Given the description of an element on the screen output the (x, y) to click on. 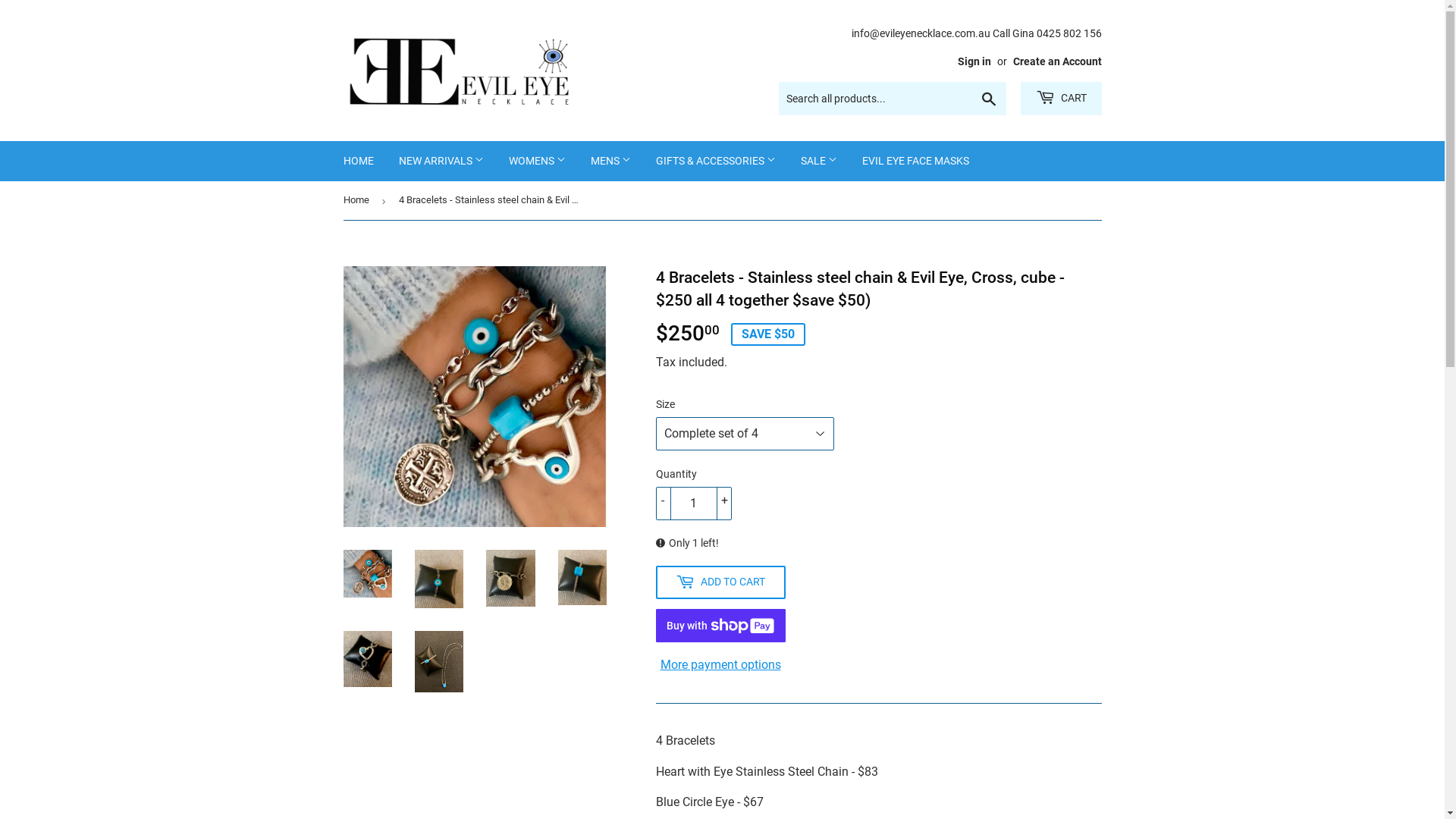
SALE Element type: text (817, 160)
HOME Element type: text (358, 160)
WOMENS Element type: text (537, 160)
MENS Element type: text (610, 160)
EVIL EYE FACE MASKS Element type: text (915, 160)
Home Element type: text (357, 200)
More payment options Element type: text (719, 664)
Search Element type: text (989, 99)
ADD TO CART Element type: text (719, 582)
CART Element type: text (1060, 98)
Create an Account Element type: text (1057, 61)
GIFTS & ACCESSORIES Element type: text (715, 160)
Sign in Element type: text (973, 61)
NEW ARRIVALS Element type: text (440, 160)
